Given the description of an element on the screen output the (x, y) to click on. 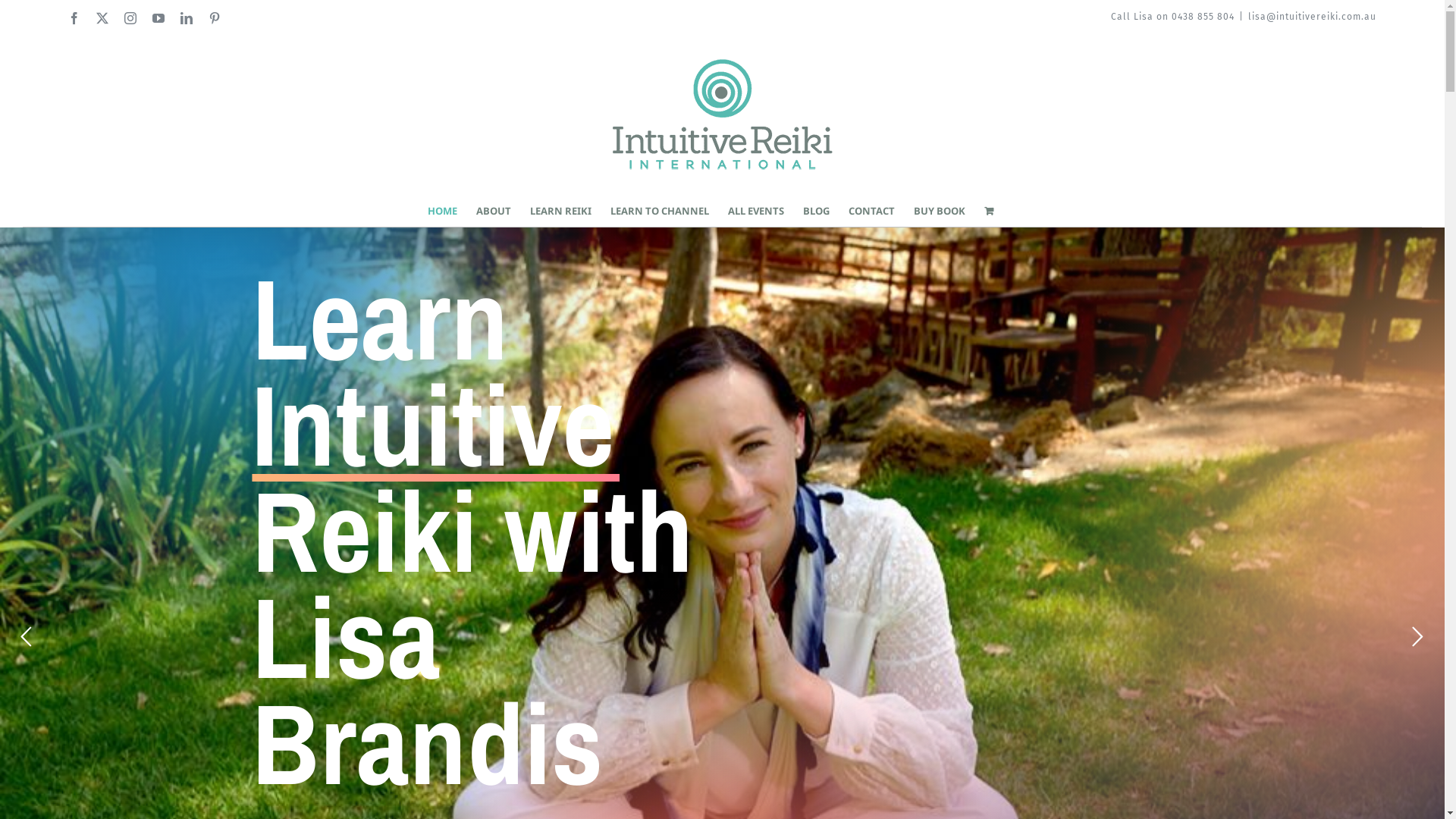
ABOUT Element type: text (493, 210)
BUY BOOK Element type: text (939, 210)
Twitter Element type: text (102, 18)
lisa@intuitivereiki.com.au Element type: text (1312, 16)
Pinterest Element type: text (214, 18)
HOME Element type: text (442, 210)
BLOG Element type: text (816, 210)
ALL EVENTS Element type: text (756, 210)
LEARN TO CHANNEL Element type: text (659, 210)
Facebook Element type: text (74, 18)
Instagram Element type: text (130, 18)
CONTACT Element type: text (871, 210)
YouTube Element type: text (158, 18)
LEARN REIKI Element type: text (560, 210)
LinkedIn Element type: text (186, 18)
